Given the description of an element on the screen output the (x, y) to click on. 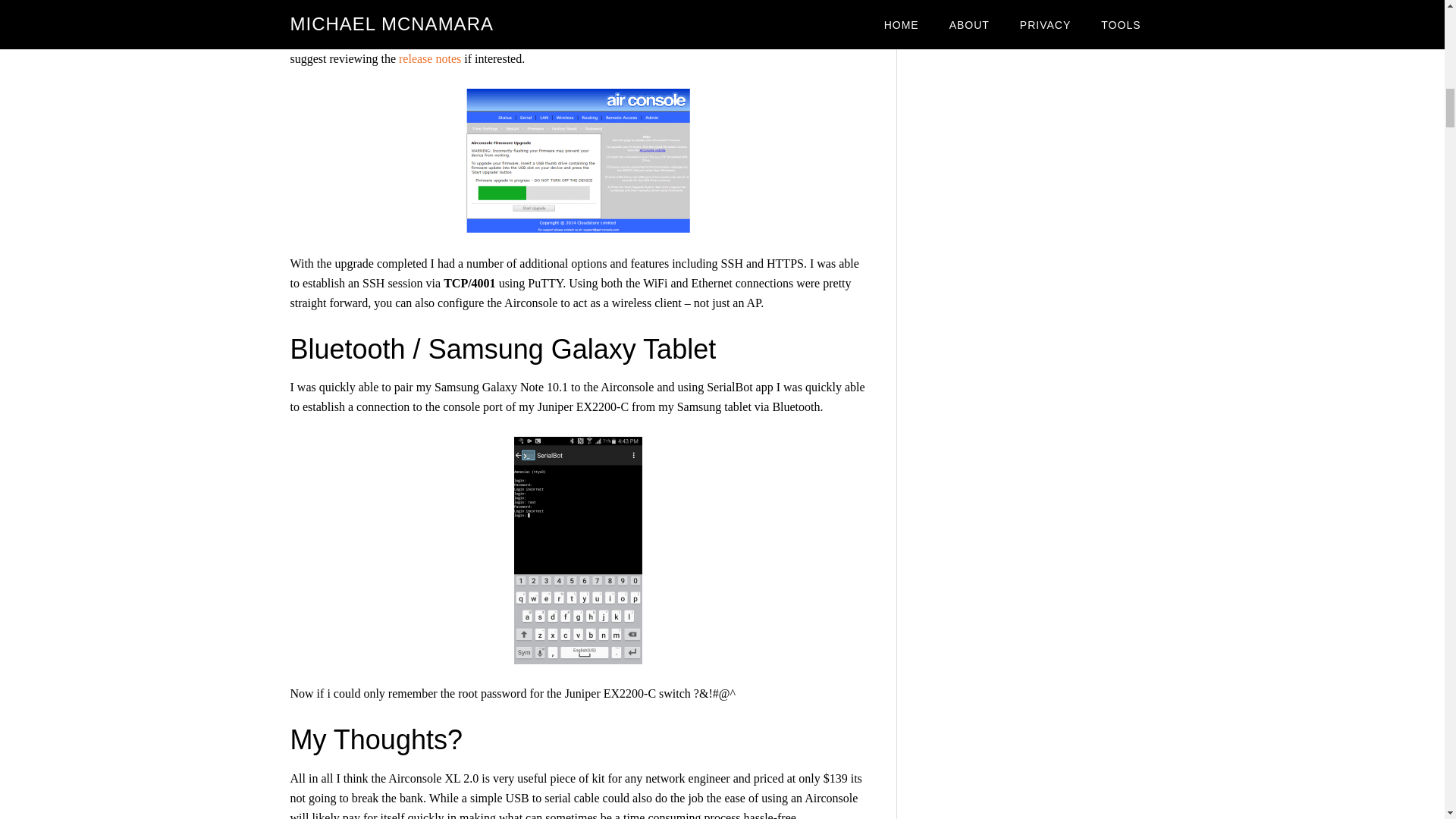
instructions (783, 38)
release notes (429, 58)
